Given the description of an element on the screen output the (x, y) to click on. 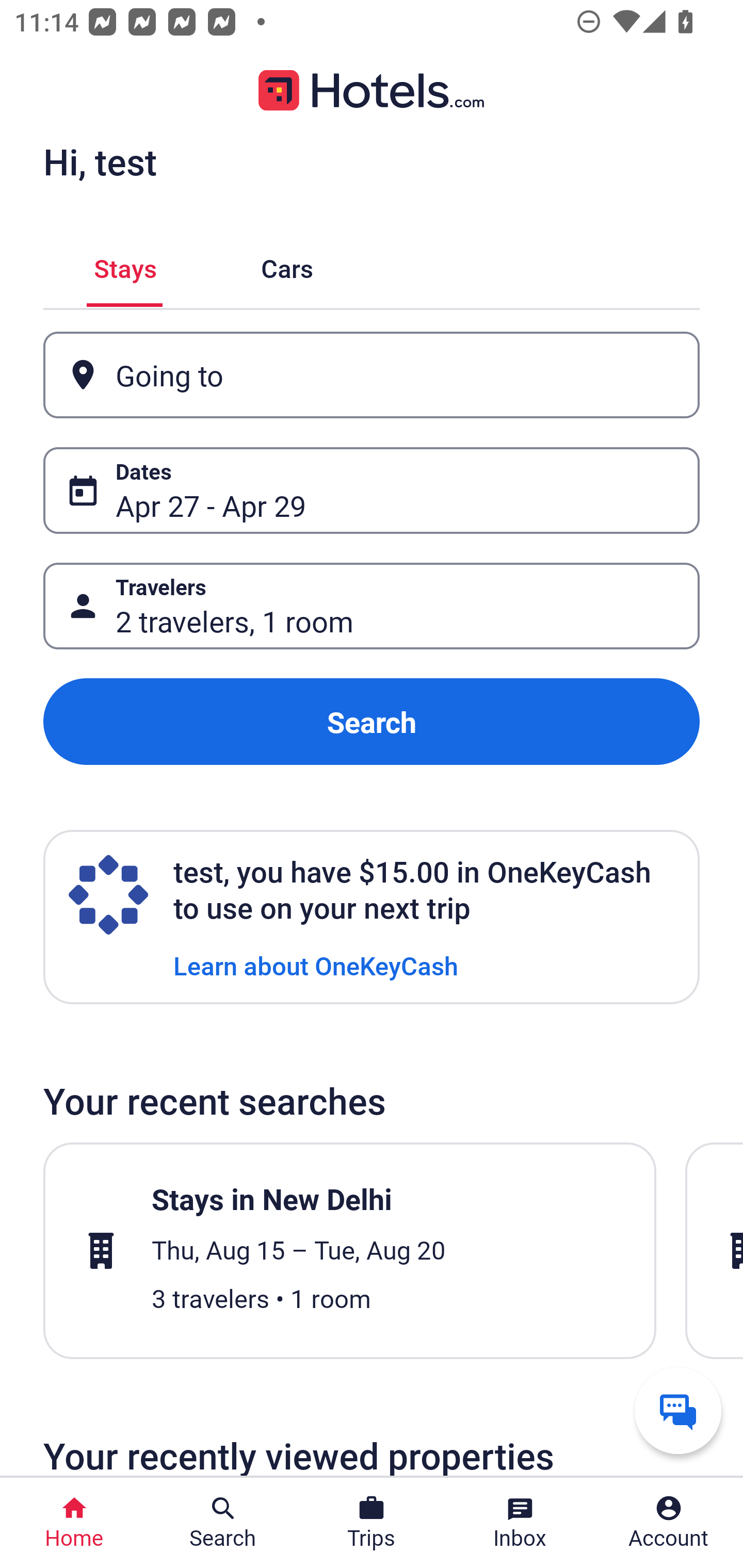
Hi, test (99, 161)
Cars (286, 265)
Going to Button (371, 375)
Dates Button Apr 27 - Apr 29 (371, 489)
Travelers Button 2 travelers, 1 room (371, 605)
Search (371, 721)
Learn about OneKeyCash Learn about OneKeyCash Link (315, 964)
Get help from a virtual agent (677, 1410)
Search Search Button (222, 1522)
Trips Trips Button (371, 1522)
Inbox Inbox Button (519, 1522)
Account Profile. Button (668, 1522)
